Given the description of an element on the screen output the (x, y) to click on. 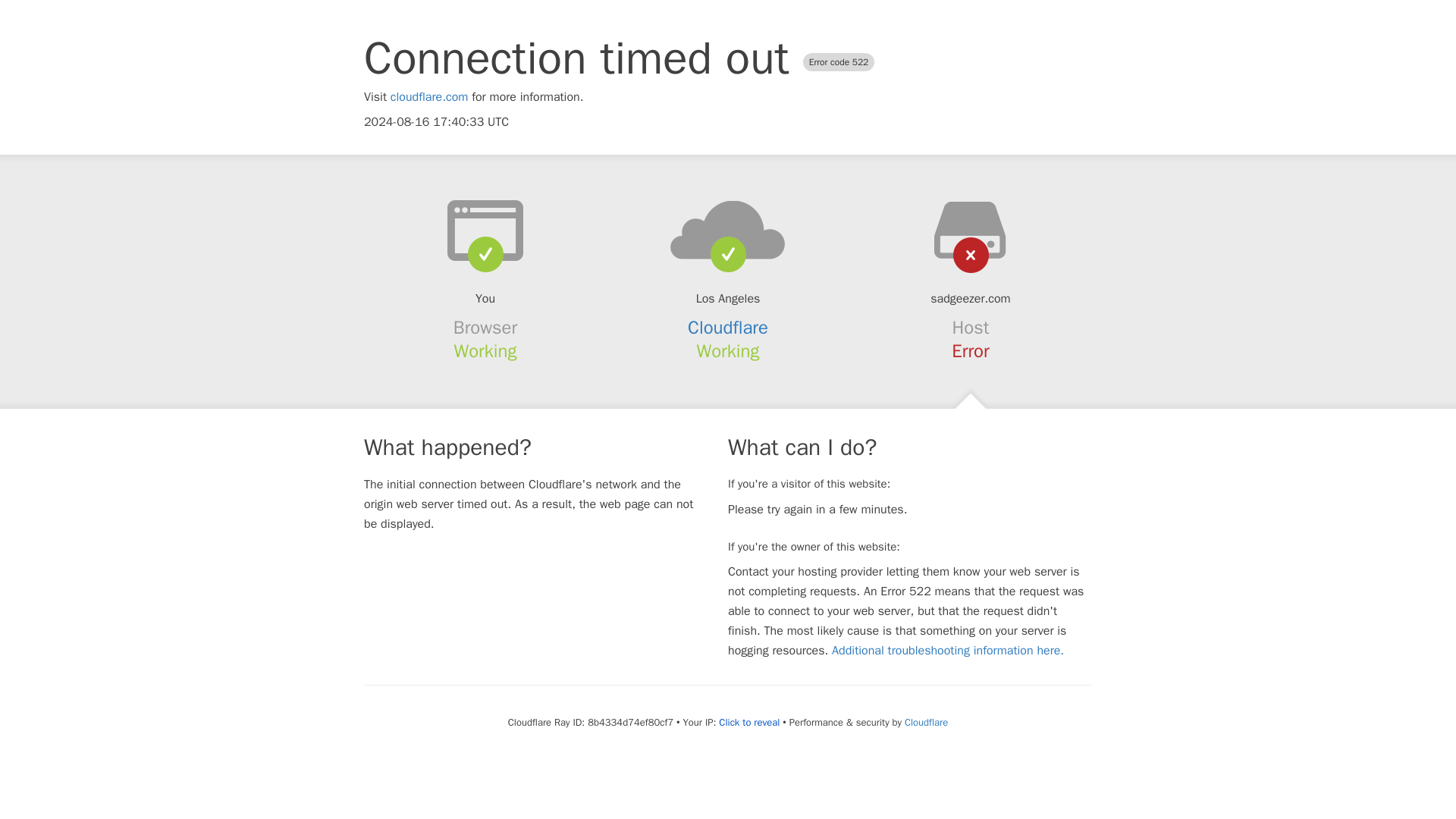
Cloudflare (727, 327)
Cloudflare (925, 721)
Additional troubleshooting information here. (947, 650)
cloudflare.com (429, 96)
Click to reveal (748, 722)
